Given the description of an element on the screen output the (x, y) to click on. 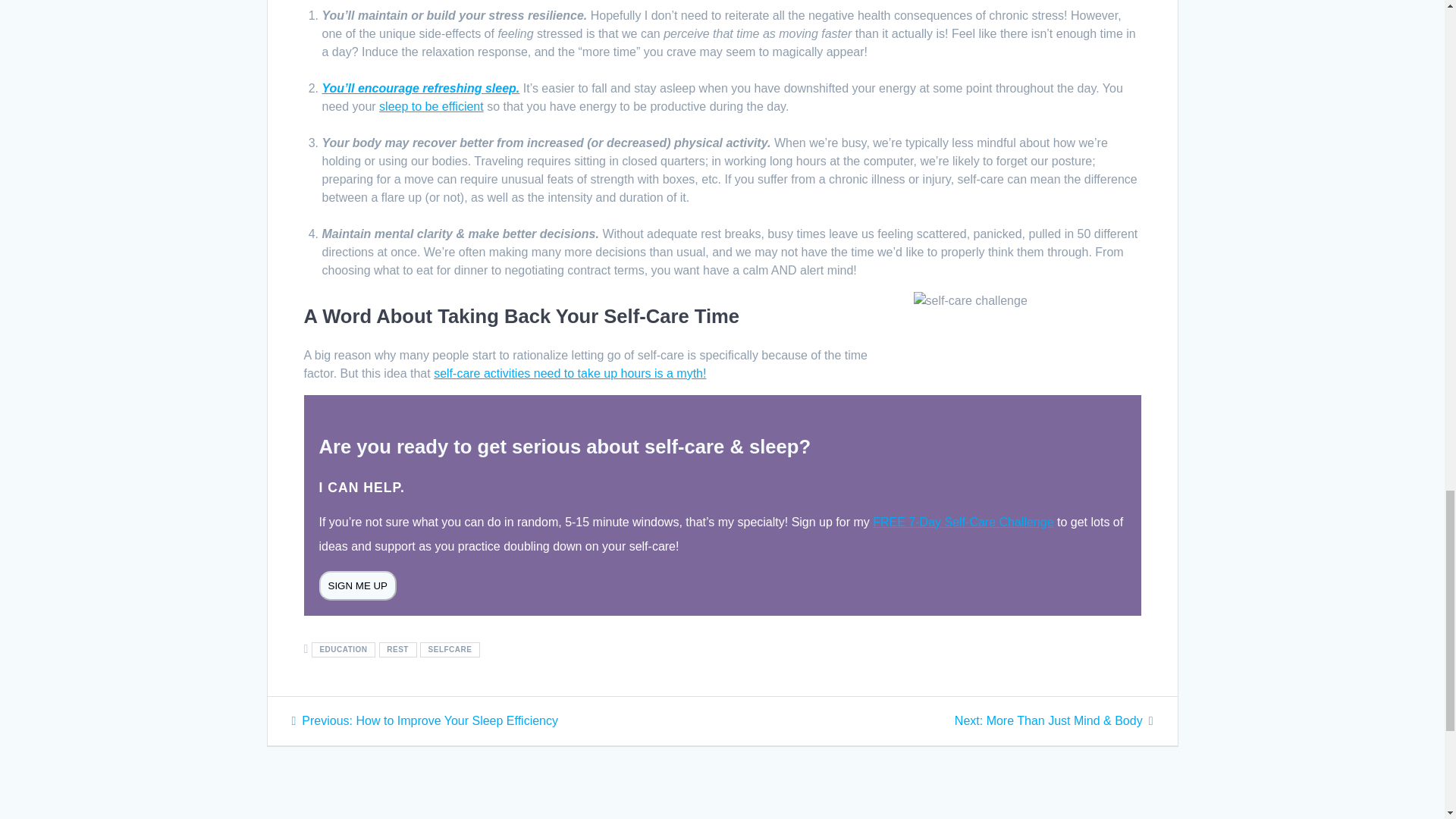
SIGN ME UP (357, 584)
sleep to be efficient (430, 106)
self-care activities need to take up hours is a myth! (569, 373)
SELFCARE (450, 649)
EDUCATION (343, 649)
REST (397, 649)
SIGN ME UP (357, 585)
FREE 7-Day Self-Care Challenge (962, 521)
